Given the description of an element on the screen output the (x, y) to click on. 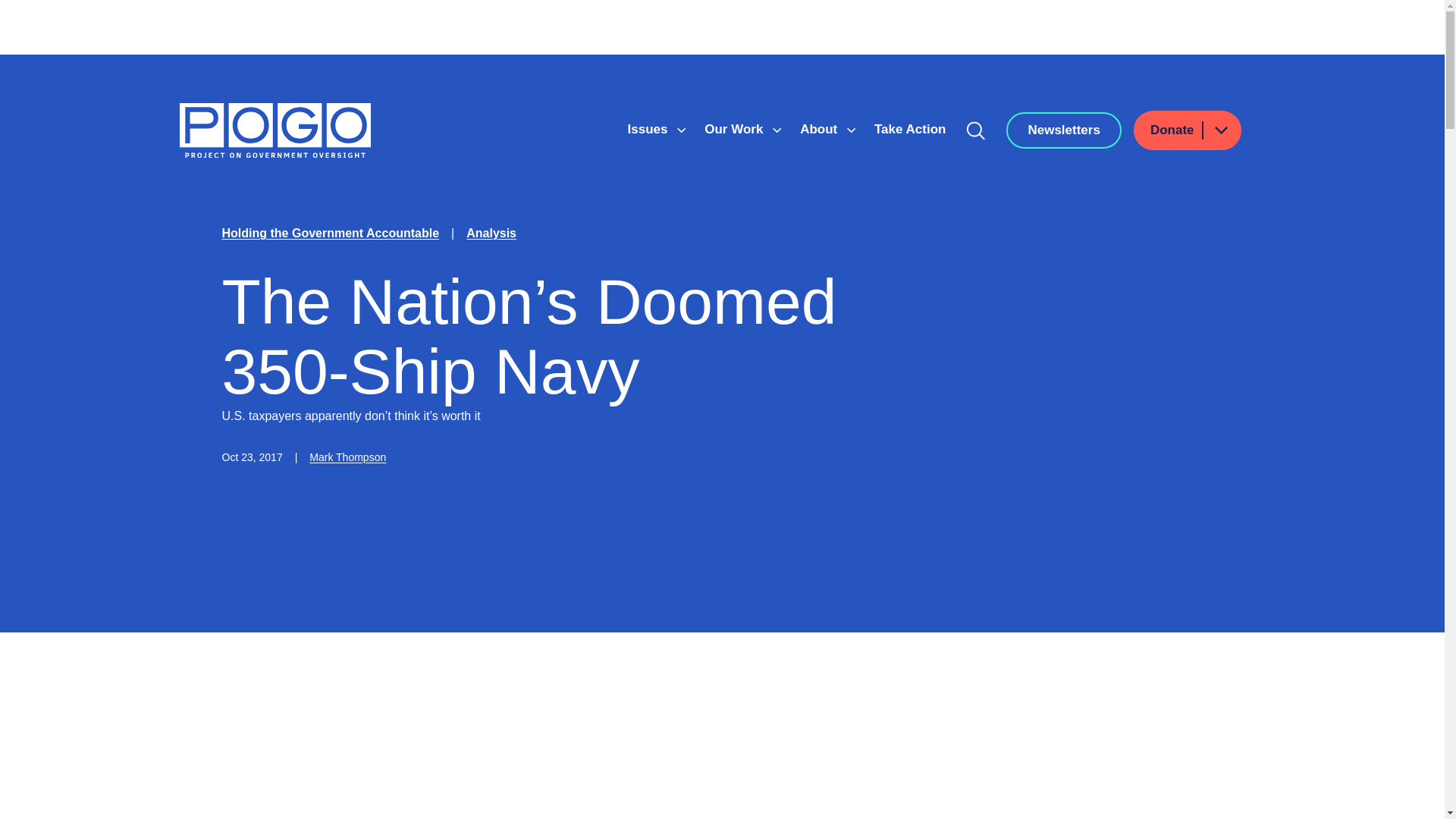
Search (976, 130)
Show submenu for About (851, 130)
Show submenu for Our Work (777, 130)
Our Work (735, 129)
Show submenu for Issues (681, 130)
About (820, 129)
Issues (649, 129)
Take Action (909, 129)
Newsletters (1063, 130)
Show submenu for Donate (1220, 129)
